Given the description of an element on the screen output the (x, y) to click on. 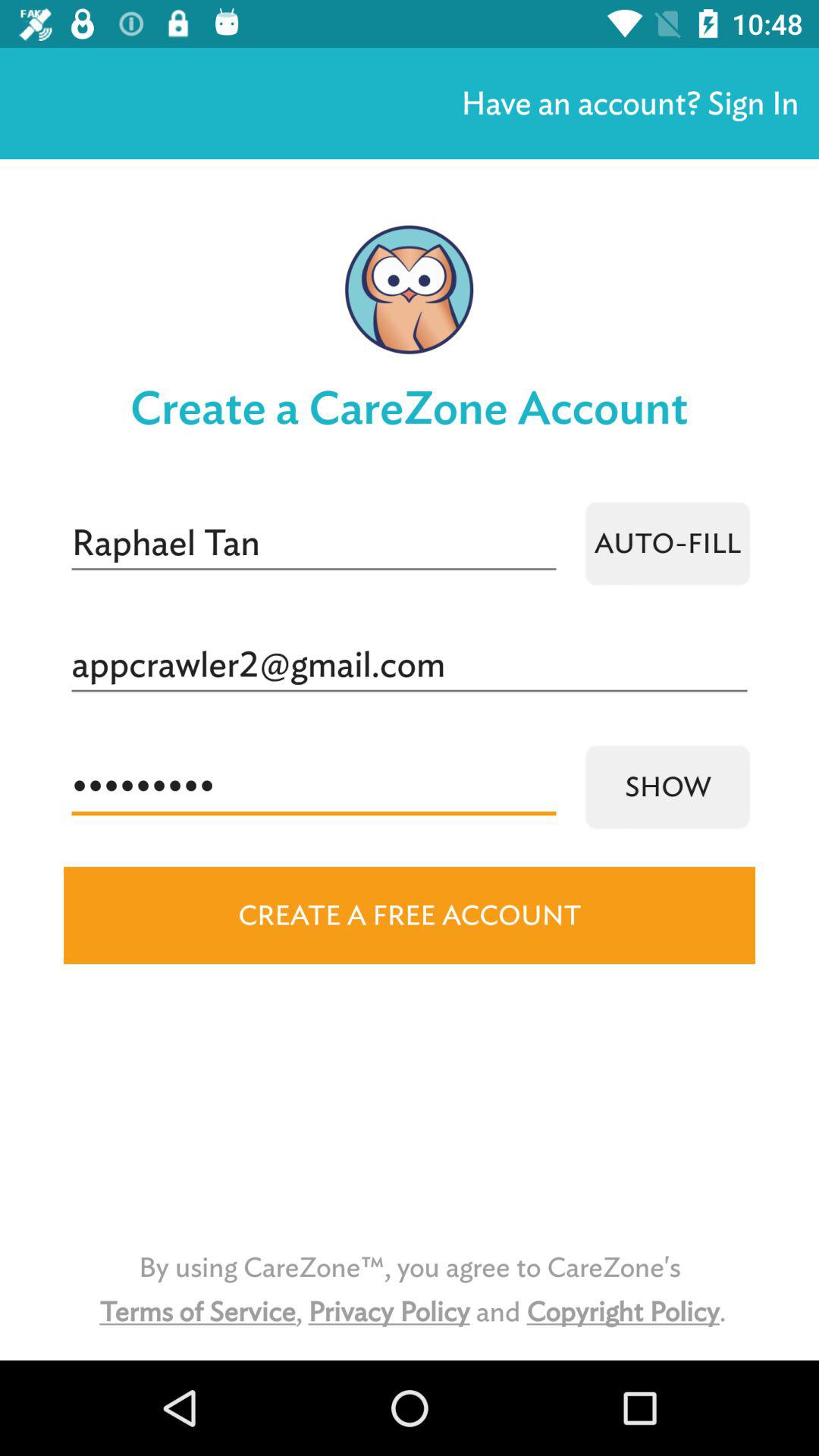
tap item next to show (313, 787)
